Given the description of an element on the screen output the (x, y) to click on. 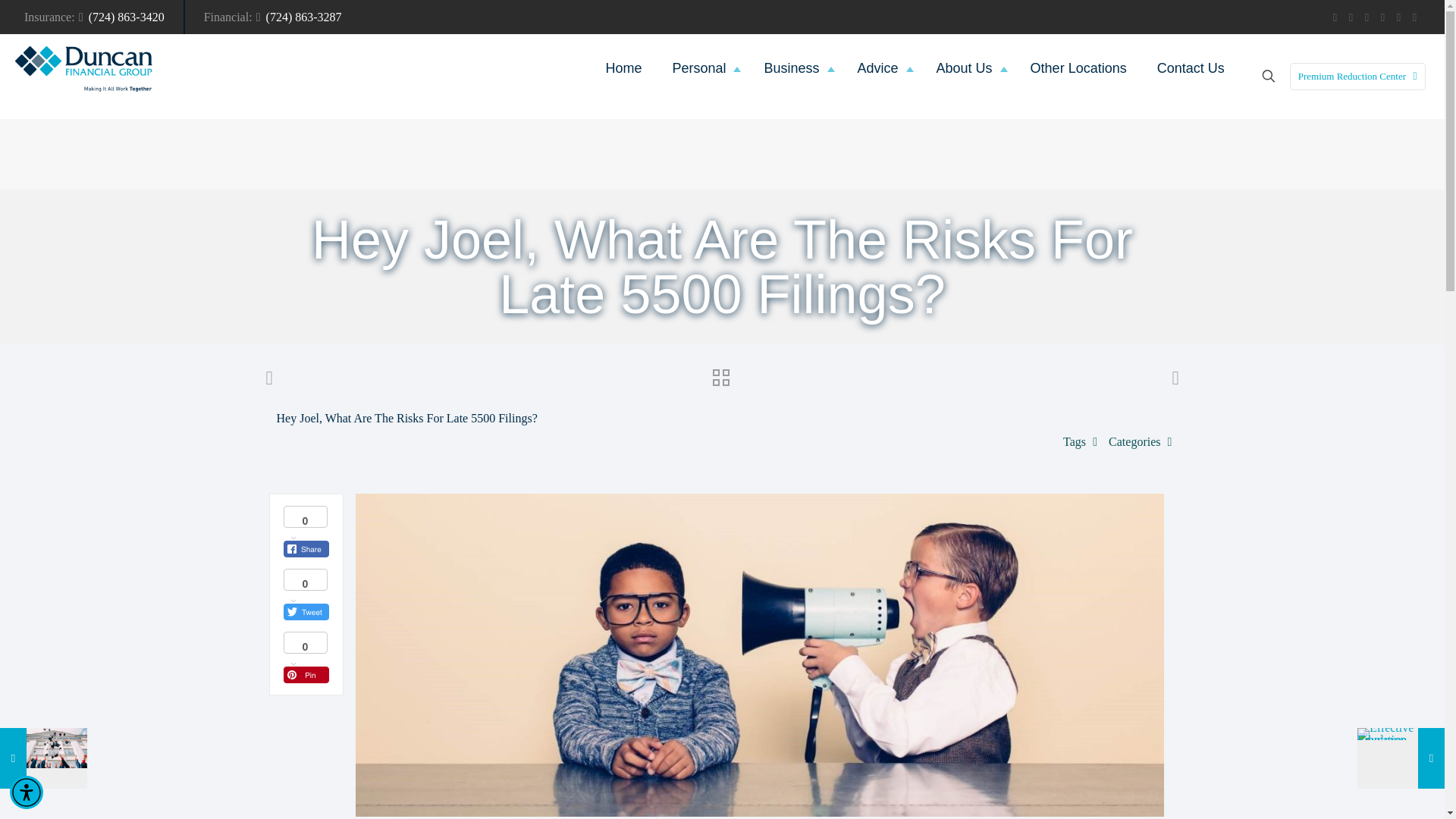
LinkedIn (1367, 17)
Instagram (1383, 17)
Accessibility Menu (26, 792)
Home (622, 68)
Personal (702, 68)
Xing (1415, 17)
Duncan Financial Group (83, 68)
Business (794, 68)
YouTube (1350, 17)
Facebook (1334, 17)
